Given the description of an element on the screen output the (x, y) to click on. 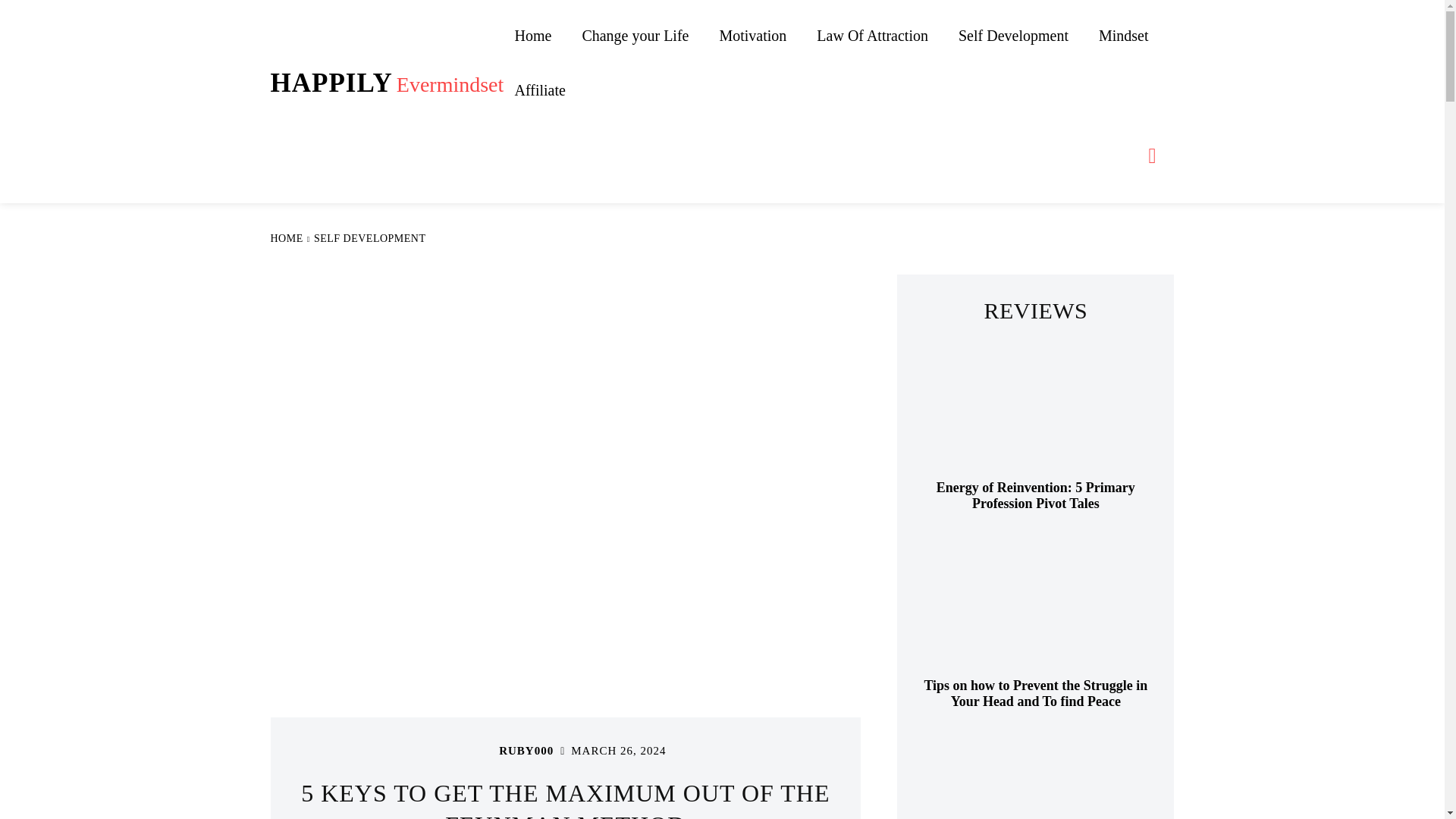
Law Of Attraction (386, 83)
Change your Life (872, 35)
Ruby000 (634, 35)
Mindset (479, 751)
Energy of Reinvention: 5 Primary Profession Pivot Tales (1123, 35)
Motivation (1035, 495)
View all posts in Self Development (752, 35)
Self Development (370, 238)
Energy of Reinvention: 5 Primary Profession Pivot Tales (1013, 35)
Affiliate (1035, 409)
Home (539, 90)
